Given the description of an element on the screen output the (x, y) to click on. 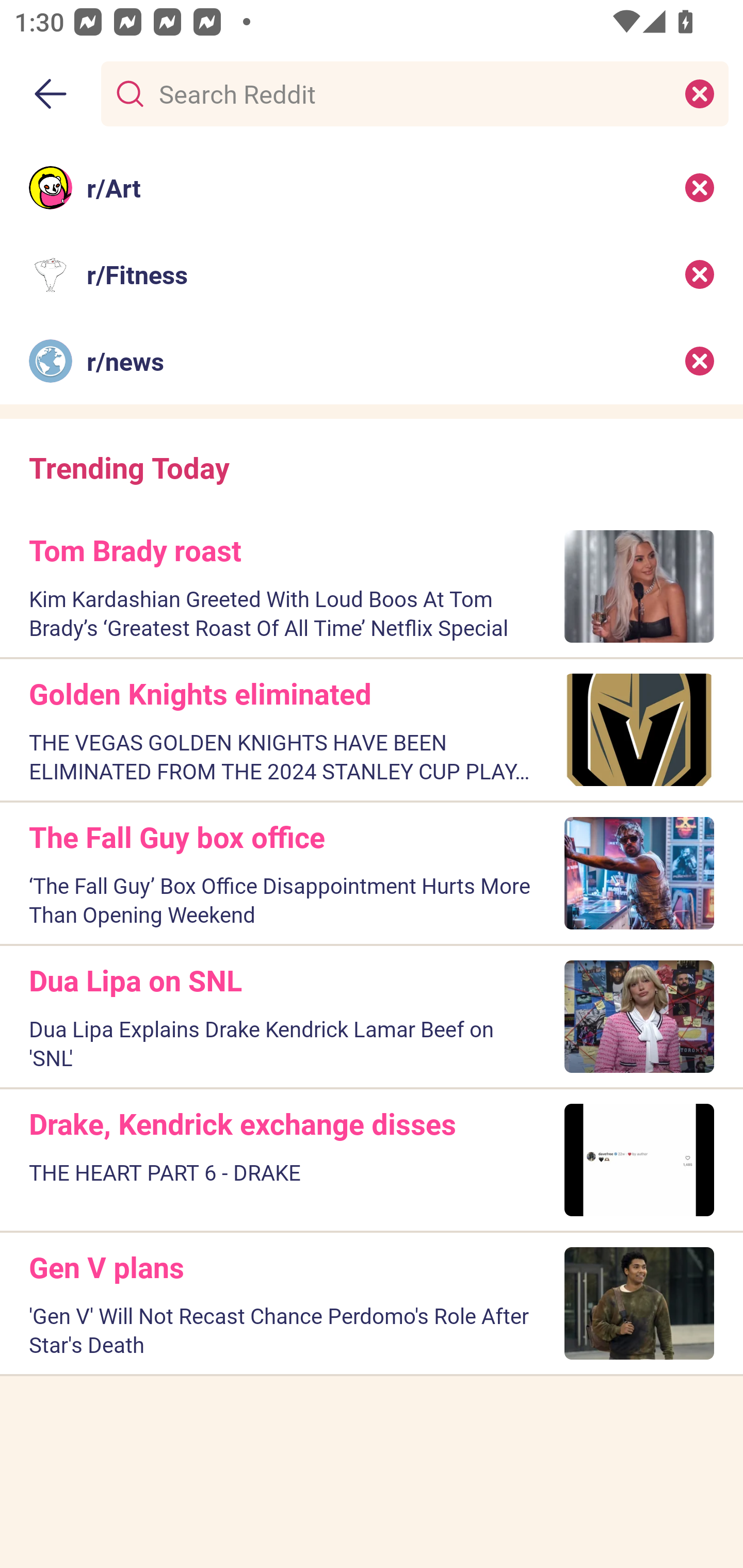
Back (50, 93)
Search Reddit (410, 93)
Clear search (699, 93)
r/Art Recent search: r/Art Remove (371, 187)
Remove (699, 187)
r/Fitness Recent search: r/Fitness Remove (371, 274)
Remove (699, 274)
r/news Recent search: r/news Remove (371, 361)
Remove (699, 361)
